Given the description of an element on the screen output the (x, y) to click on. 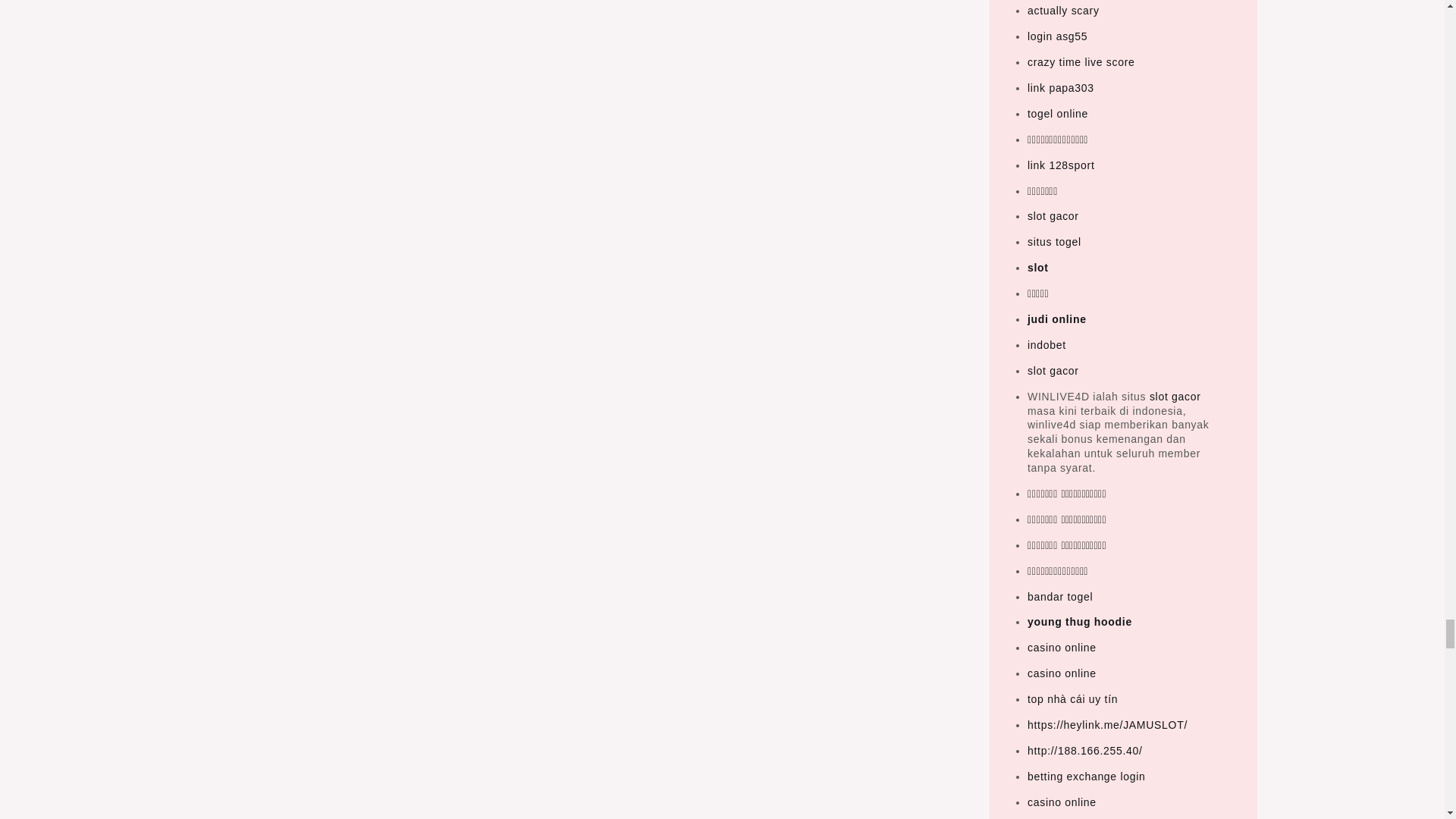
slot gacor (1175, 396)
